Given the description of an element on the screen output the (x, y) to click on. 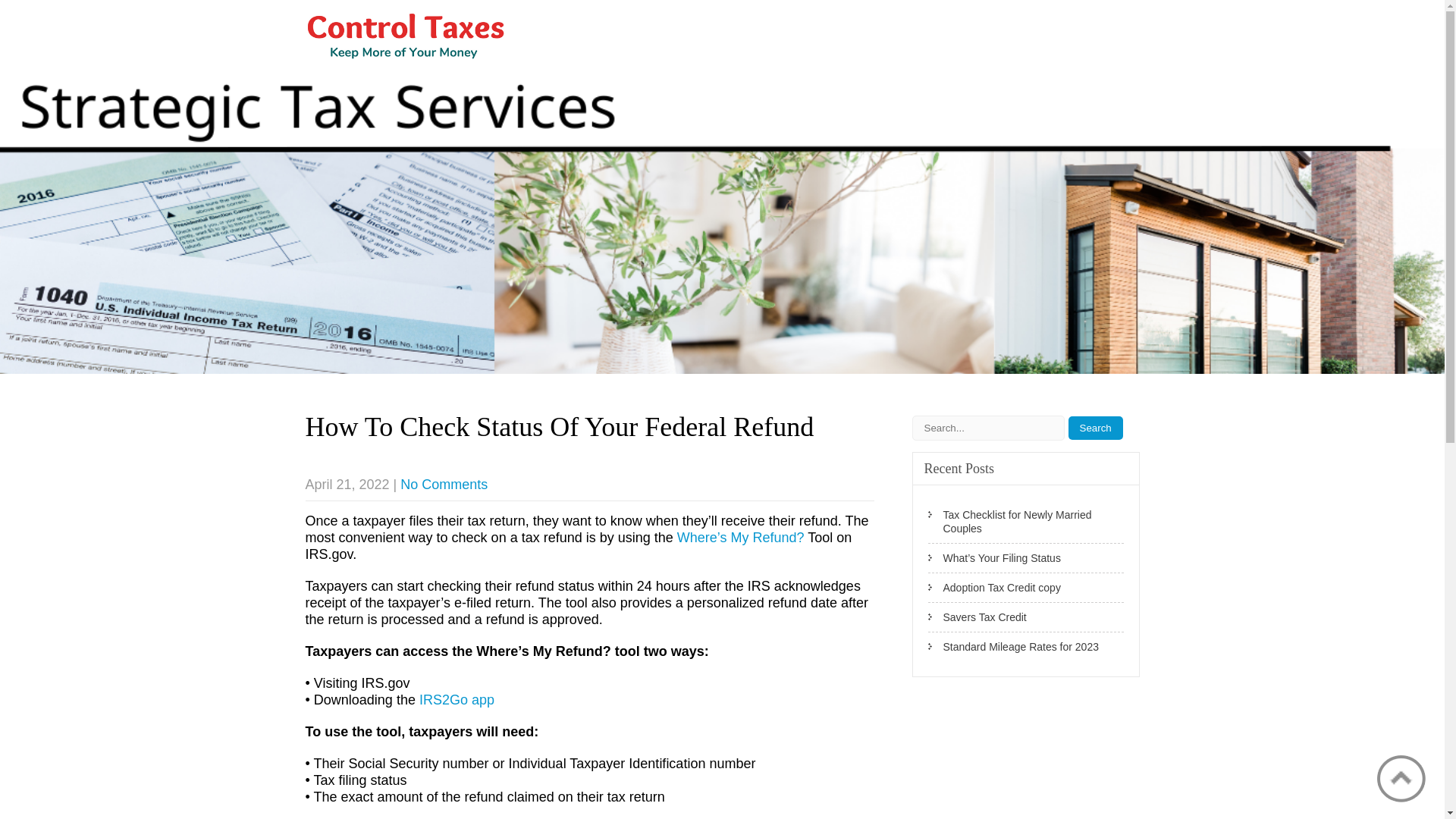
No Comments (443, 484)
Tax Checklist for Newly Married Couples (1026, 521)
Search (1095, 427)
Search (1095, 427)
Standard Mileage Rates for 2023 (1026, 646)
IRS2Go app (457, 699)
Top of Page (1401, 778)
Savers Tax Credit (1026, 617)
Adoption Tax Credit copy (1026, 587)
Search (1095, 427)
